Given the description of an element on the screen output the (x, y) to click on. 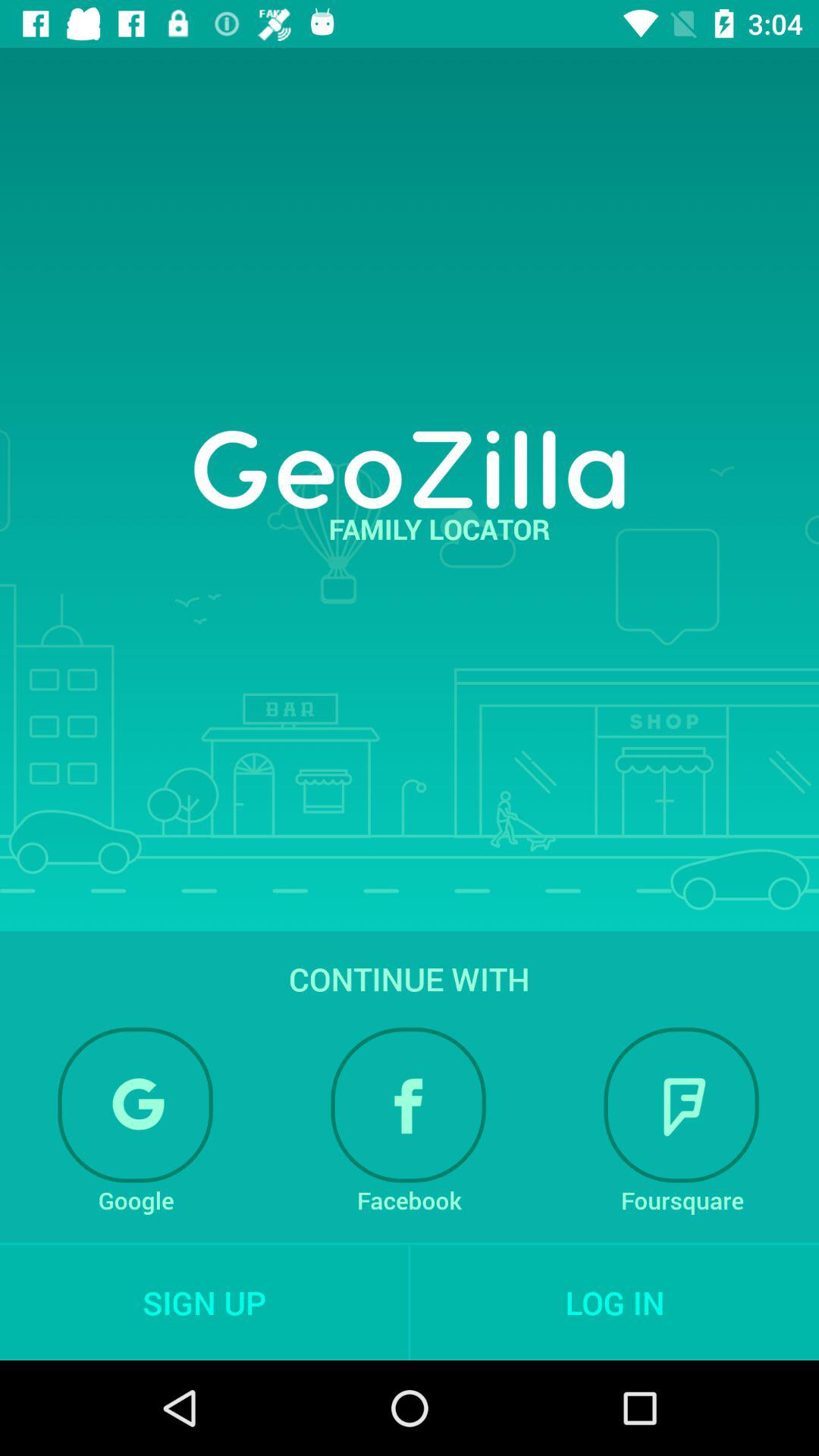
open the icon above facebook (408, 1105)
